Given the description of an element on the screen output the (x, y) to click on. 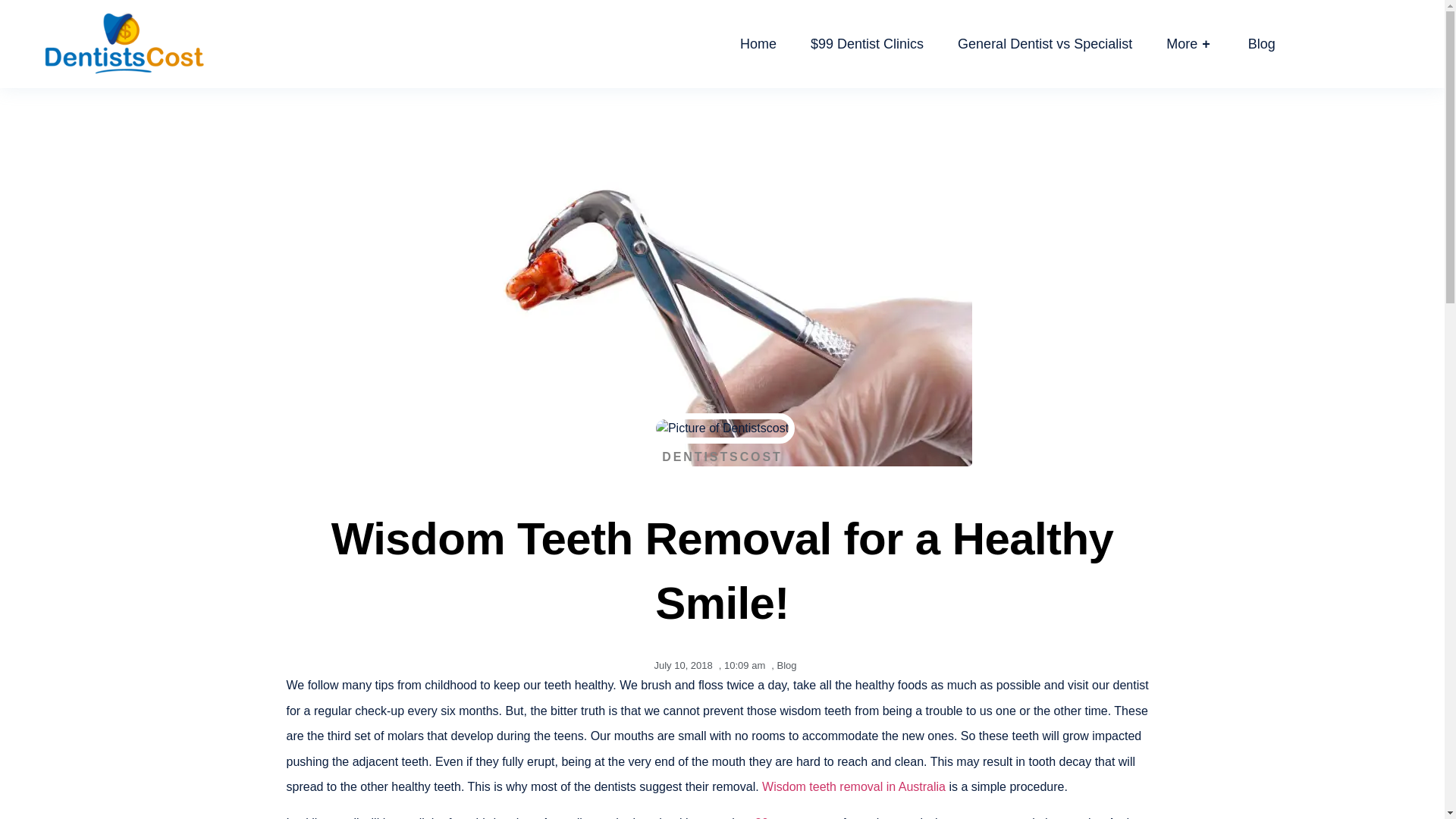
Wisdom teeth removal in Australia (852, 786)
Home (757, 43)
General Dentist vs Specialist (1045, 43)
Blog (1261, 43)
Blog (786, 665)
